Given the description of an element on the screen output the (x, y) to click on. 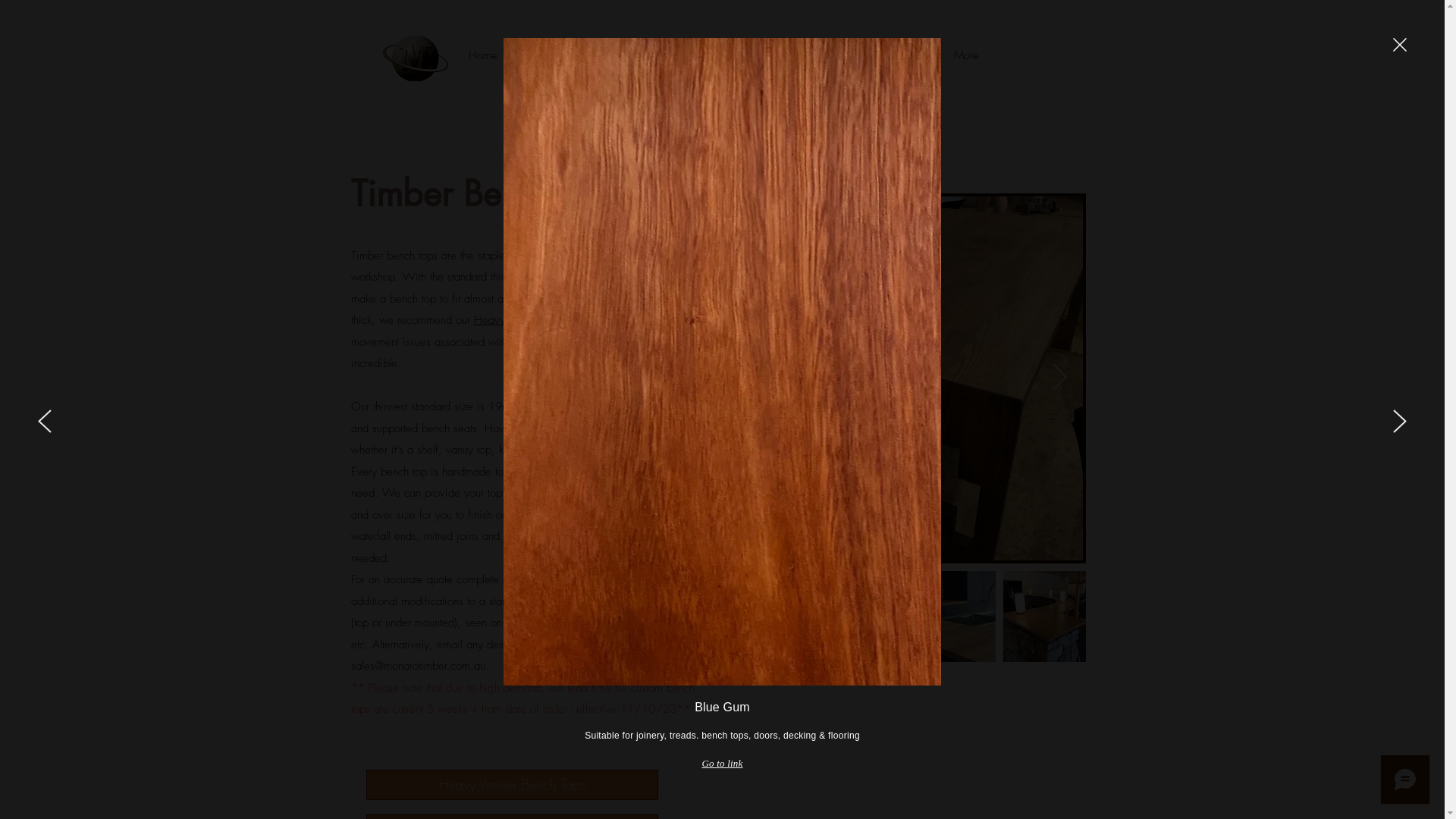
sales@monarotimber.com.au Element type: text (417, 665)
Our Workshop Element type: text (606, 54)
Timber Species Element type: text (695, 54)
Contact Element type: text (863, 54)
Home Element type: text (482, 54)
Site Search Element type: hover (980, 34)
Products Element type: text (534, 54)
Heavy Veneer Element type: text (506, 319)
Careers Element type: text (917, 54)
Go to link Element type: text (721, 763)
Heavy Veneer Bench Tops Element type: text (511, 784)
Recycled Timber Element type: text (789, 54)
